Given the description of an element on the screen output the (x, y) to click on. 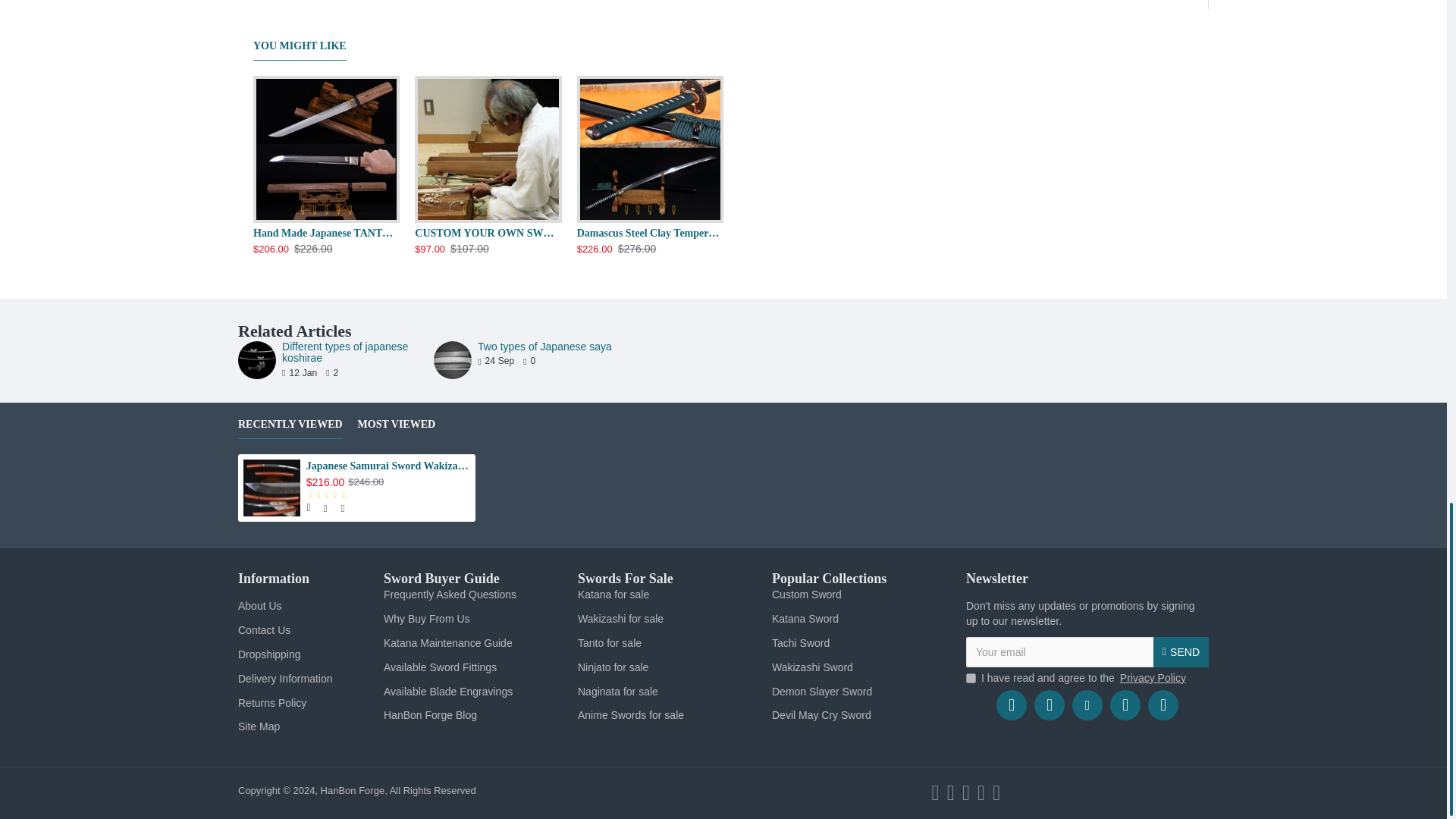
1 (970, 678)
